Given the description of an element on the screen output the (x, y) to click on. 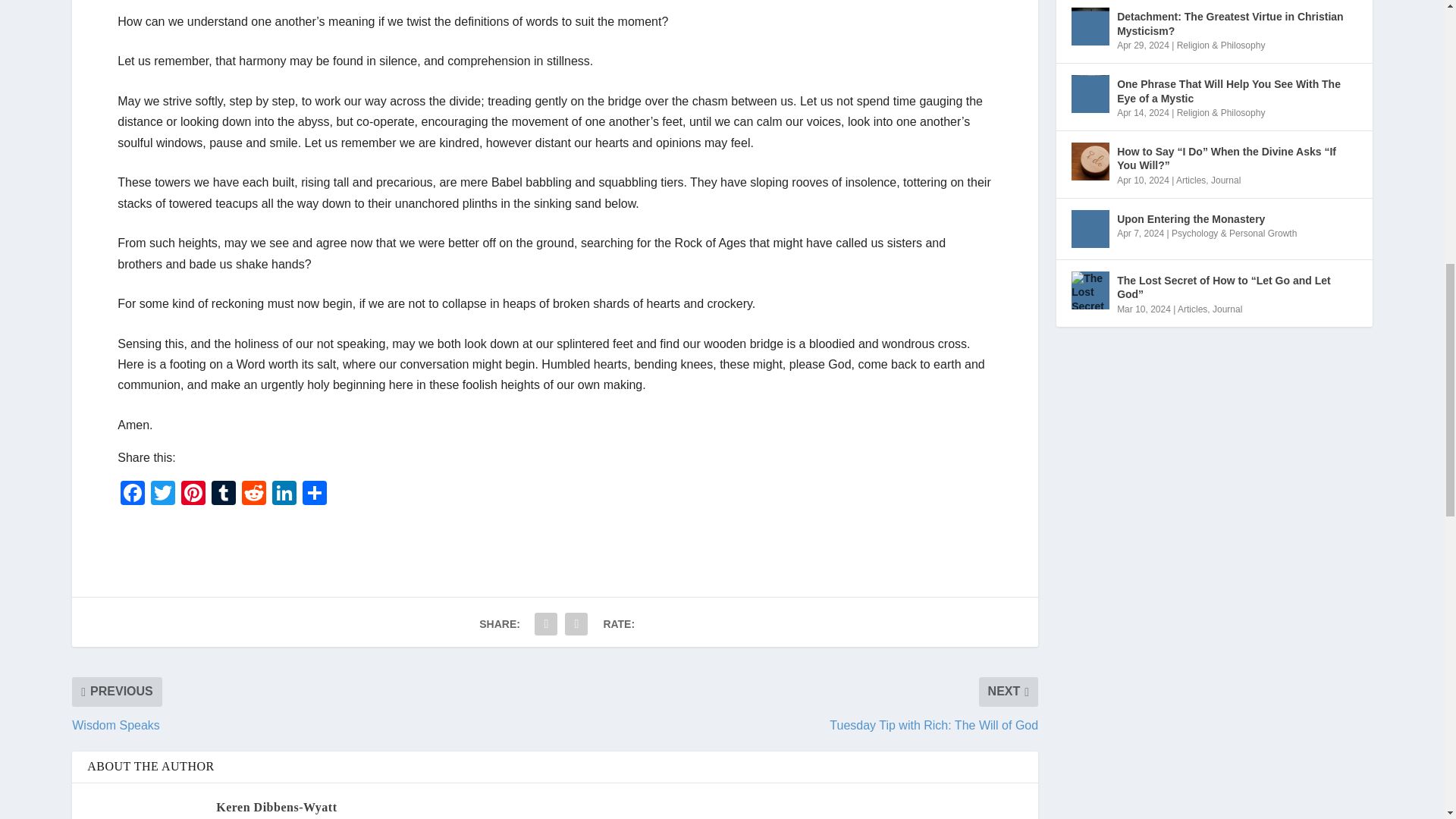
LinkedIn (284, 494)
Pinterest (192, 494)
Share "Prayer for Dialogue" via Email (545, 624)
Facebook (132, 494)
Tumblr (223, 494)
LinkedIn (284, 494)
Reddit (253, 494)
Pinterest (192, 494)
Facebook (132, 494)
Twitter (162, 494)
